Given the description of an element on the screen output the (x, y) to click on. 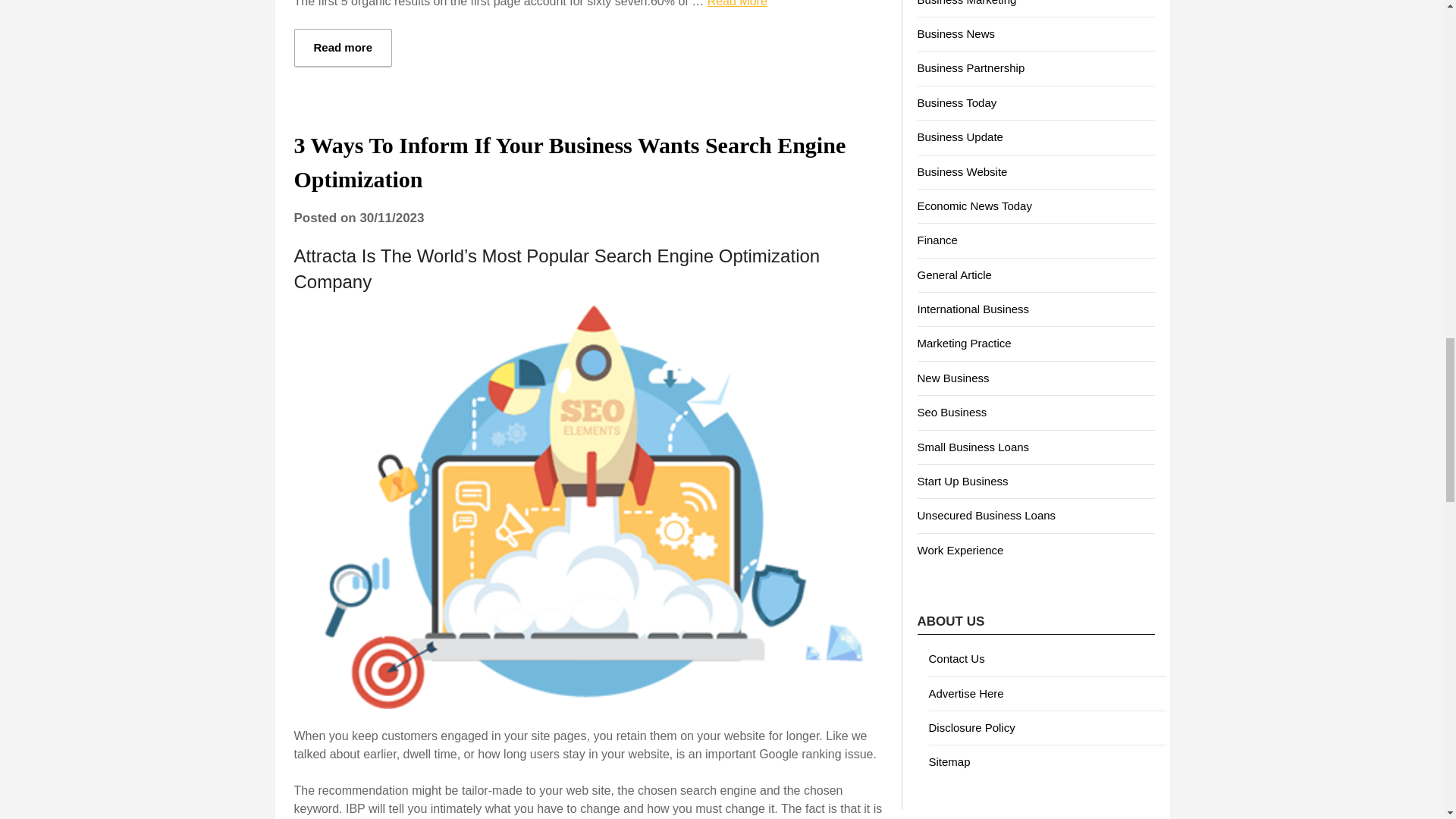
Read more (343, 47)
Read More (737, 3)
